Given the description of an element on the screen output the (x, y) to click on. 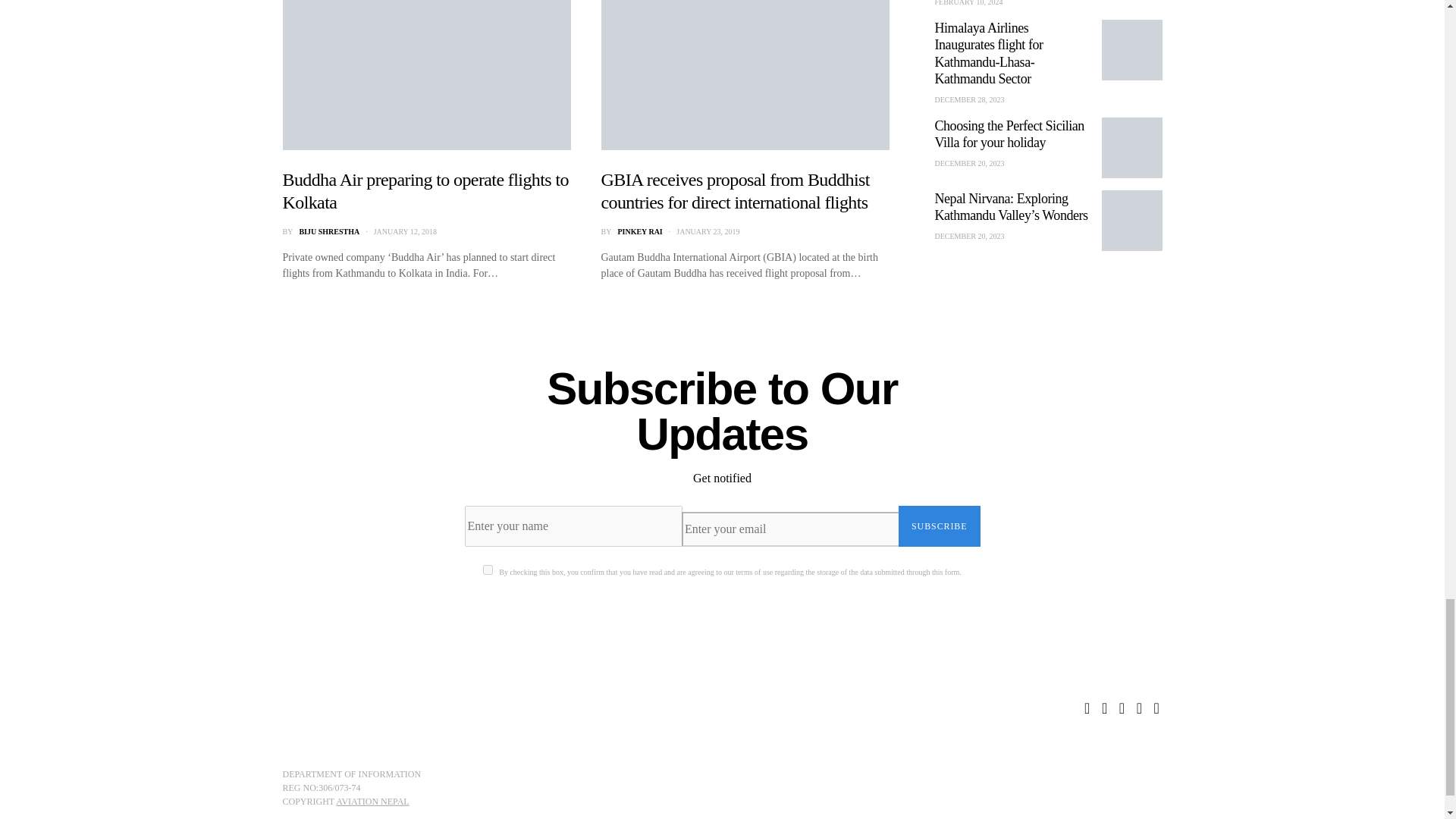
on (488, 569)
View all posts by Biju Shrestha (328, 231)
View all posts by Pinkey Rai (639, 231)
